Given the description of an element on the screen output the (x, y) to click on. 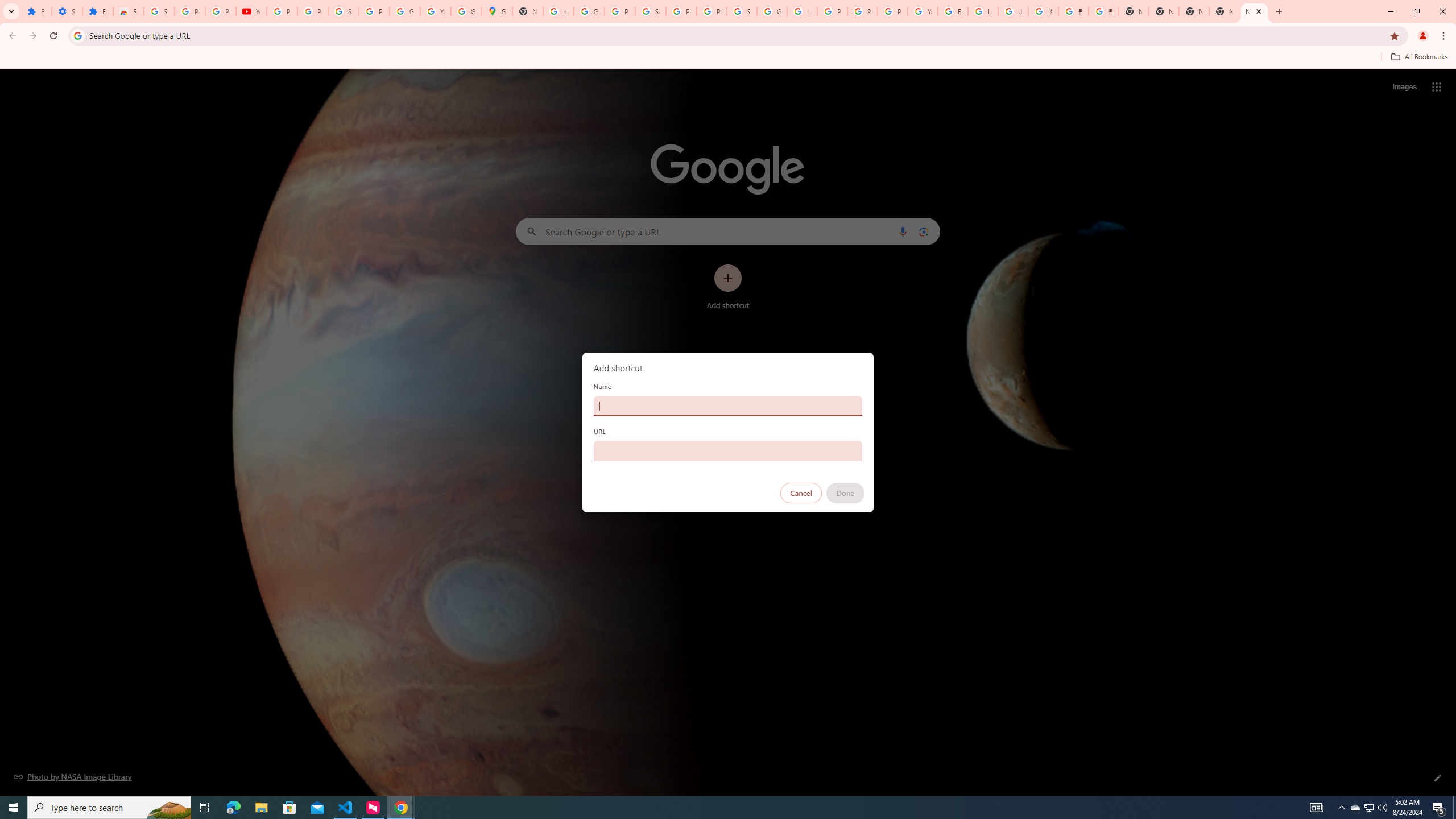
https://scholar.google.com/ (558, 11)
YouTube (922, 11)
New Tab (1133, 11)
Cancel (801, 493)
Privacy Help Center - Policies Help (832, 11)
Google Maps (496, 11)
Done (845, 493)
URL (727, 450)
New Tab (1254, 11)
